Given the description of an element on the screen output the (x, y) to click on. 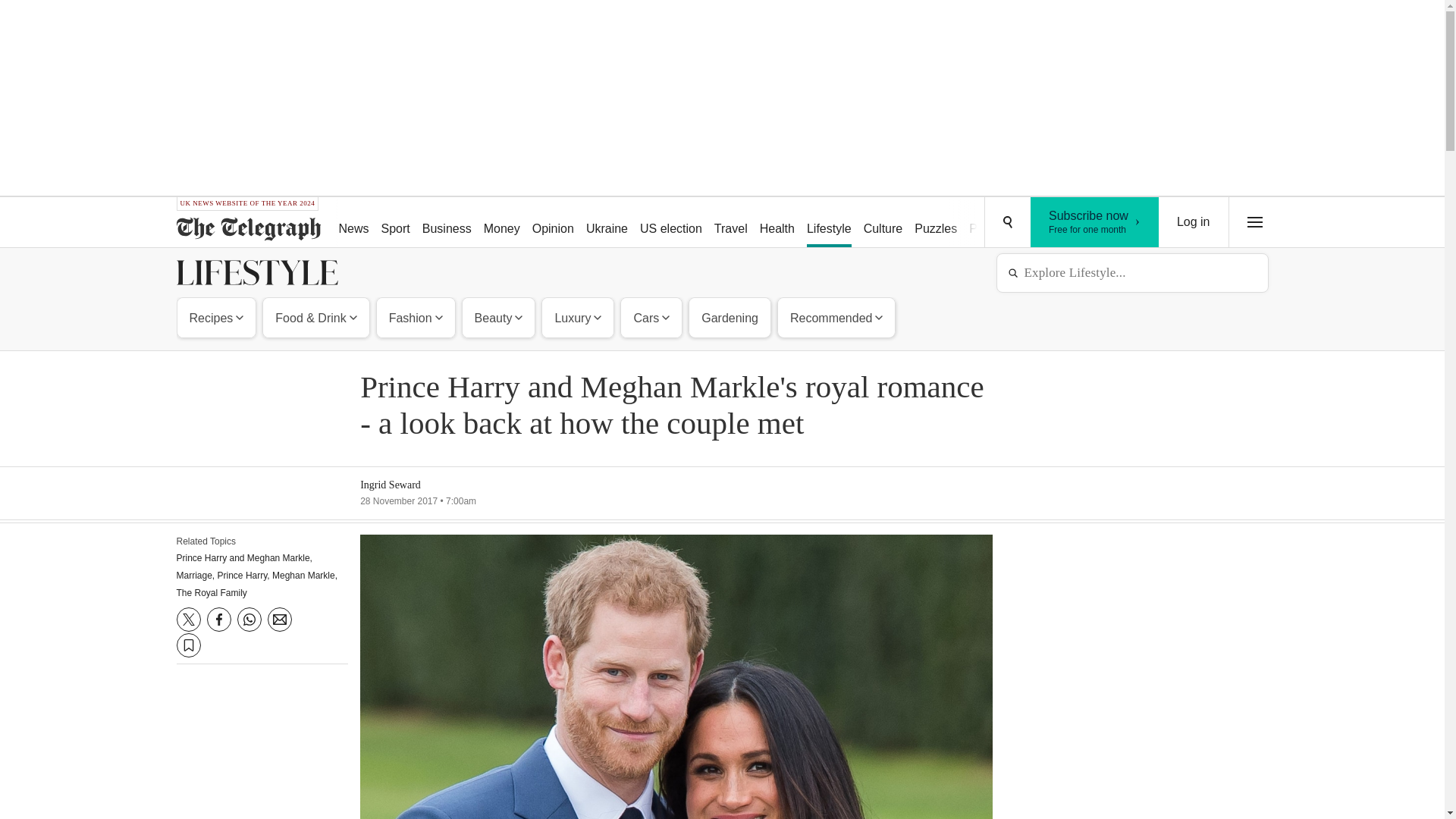
Money (501, 223)
Recipes (216, 317)
Business (446, 223)
Culture (882, 223)
Podcasts (993, 223)
Puzzles (935, 223)
Travel (730, 223)
Ukraine (606, 223)
Lifestyle (828, 223)
Log in (1193, 222)
